Given the description of an element on the screen output the (x, y) to click on. 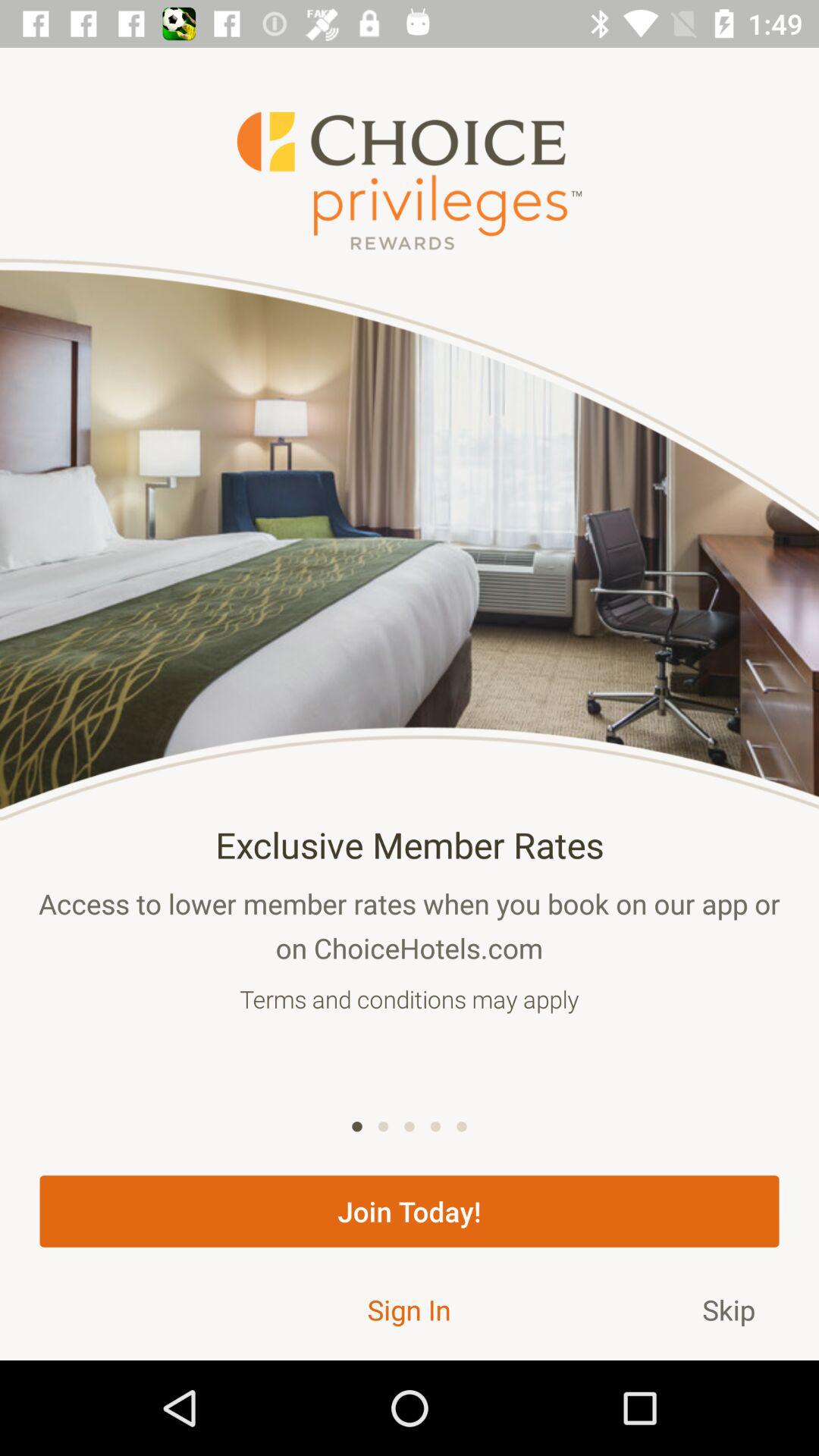
turn on the icon to the left of skip item (408, 1309)
